Given the description of an element on the screen output the (x, y) to click on. 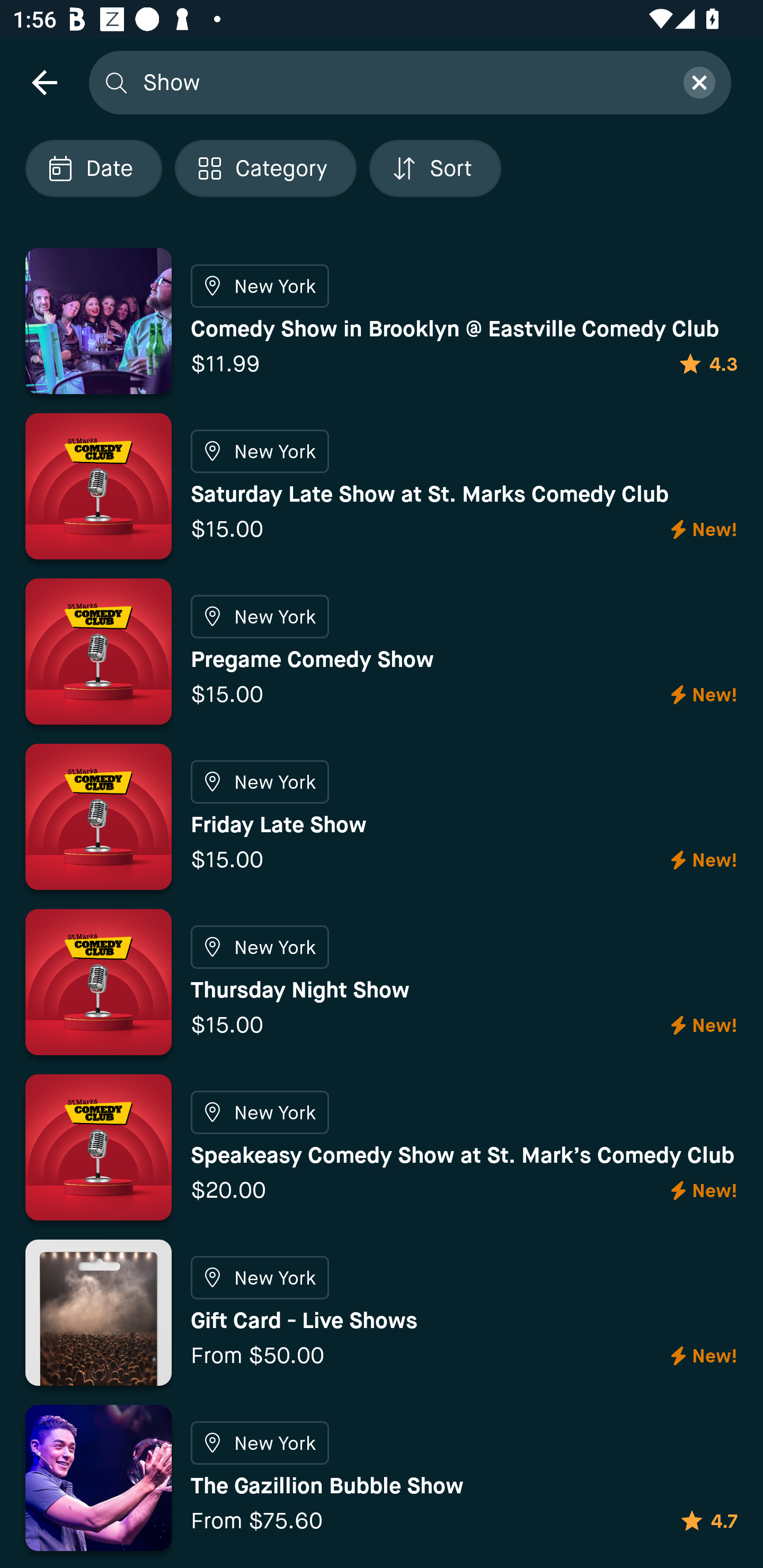
navigation icon (44, 81)
Show (402, 81)
Localized description Date (93, 168)
Localized description Category (265, 168)
Localized description Sort (435, 168)
